Given the description of an element on the screen output the (x, y) to click on. 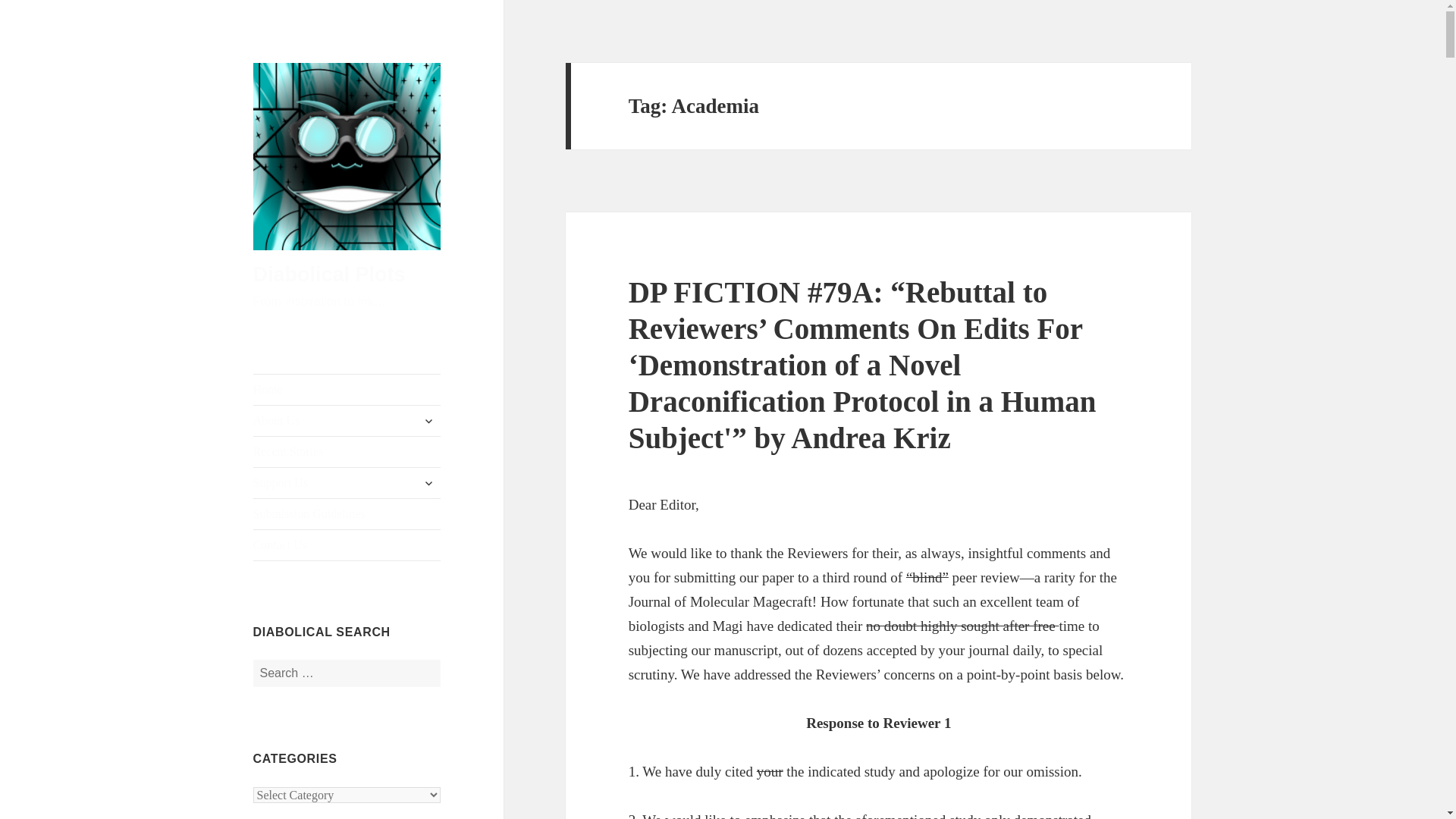
expand child menu (428, 482)
Diabolical Plots (329, 273)
Home (347, 389)
Submission Guidelines (347, 513)
Support Us (347, 482)
About Us (347, 420)
Contact Us (347, 544)
Recent Stories (347, 451)
expand child menu (428, 420)
